Given the description of an element on the screen output the (x, y) to click on. 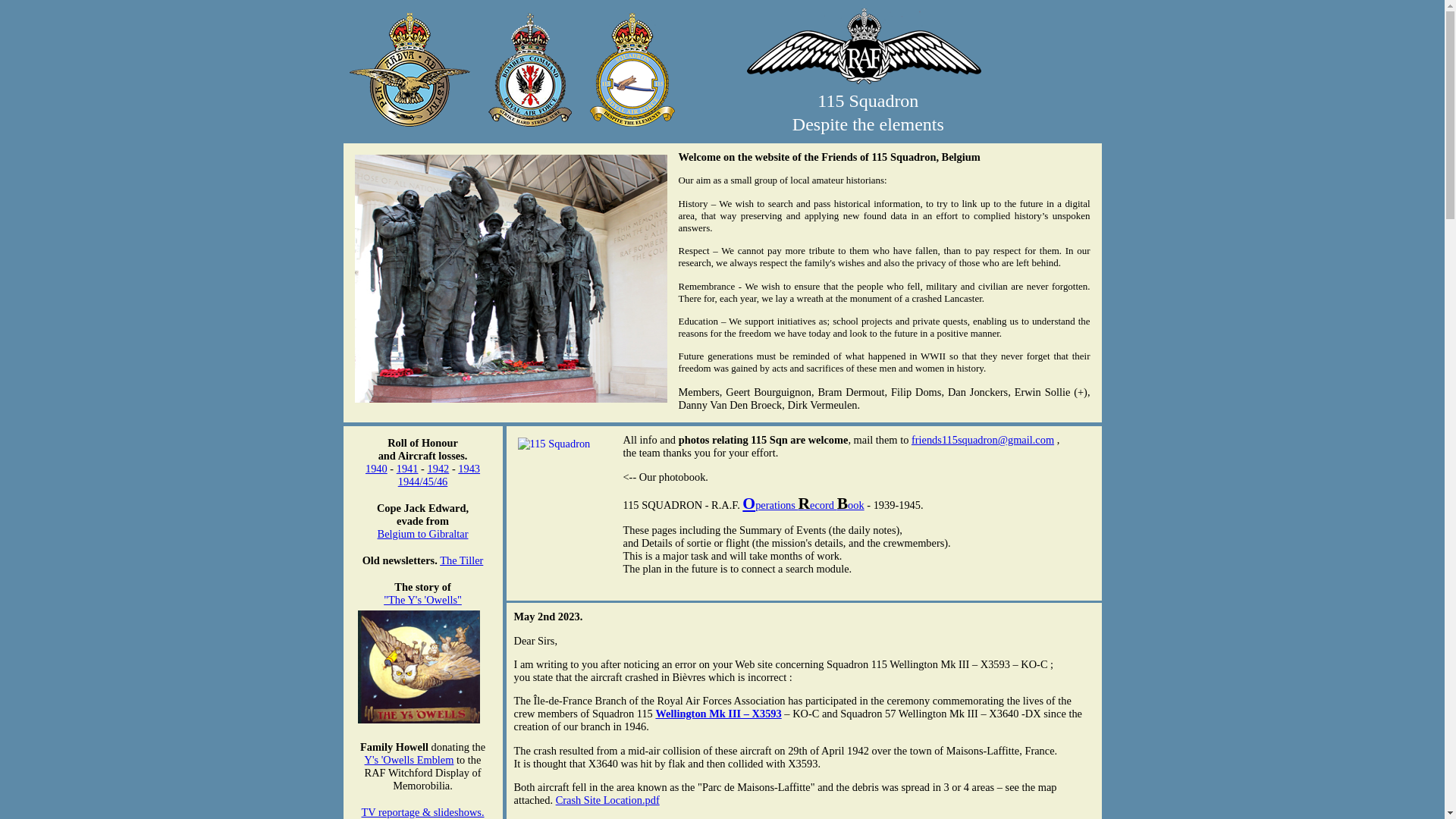
1944/45/46 Element type: text (423, 481)
Crash Site Location.pdf Element type: text (607, 799)
Y's 'Owells Emblem Element type: text (409, 759)
1942 Element type: text (438, 468)
perations Record Book Element type: text (809, 504)
1941 Element type: text (407, 468)
The Tiller Element type: text (461, 560)
O Element type: text (748, 503)
friends115squadron@gmail.com Element type: text (982, 439)
Belgium to Gibraltar Element type: text (422, 533)
"The Y's 'Owells" Element type: text (422, 599)
1943 Element type: text (469, 468)
TV reportage & slideshows. Element type: text (421, 812)
1940 Element type: text (376, 468)
